Given the description of an element on the screen output the (x, y) to click on. 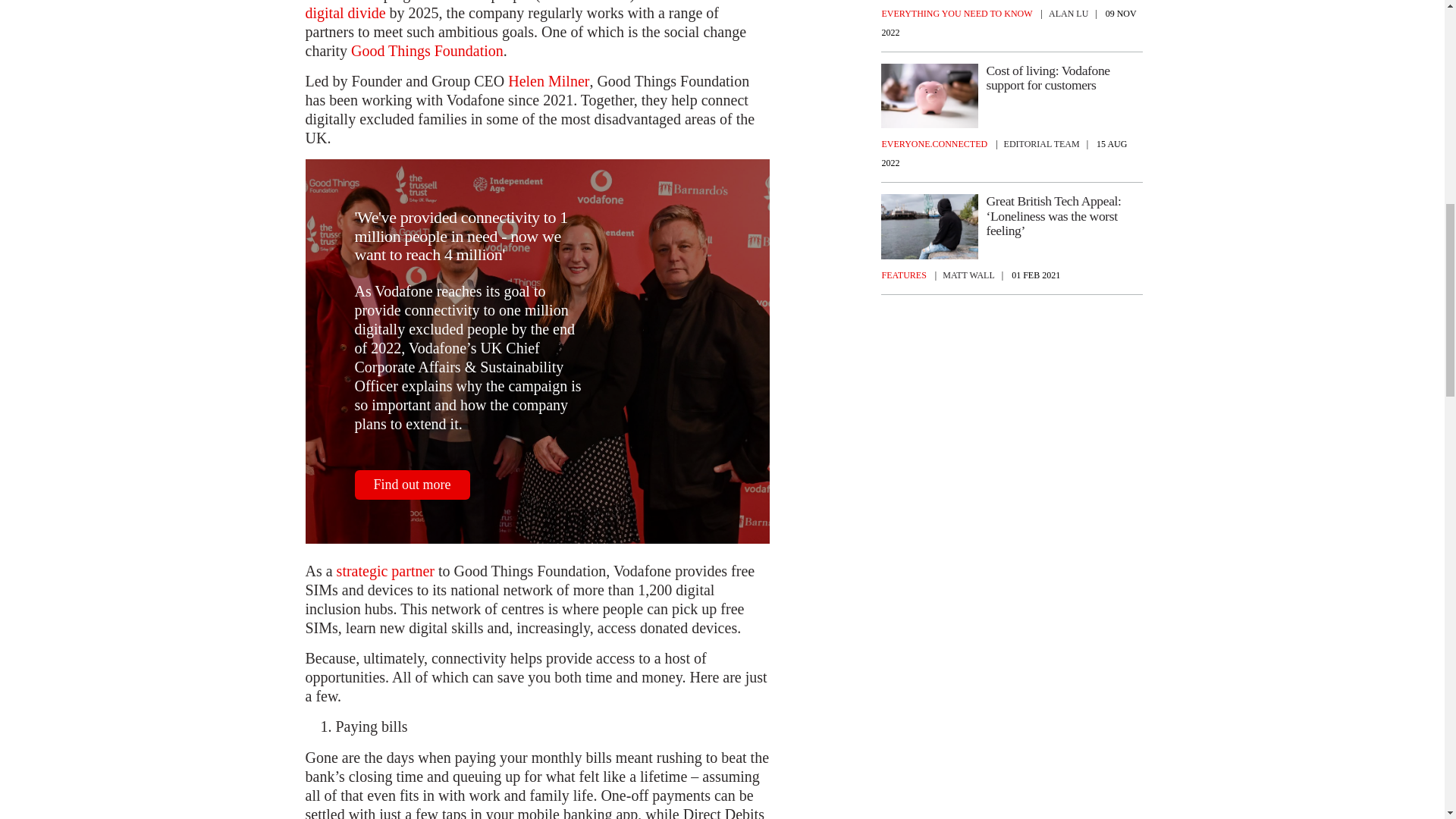
Helen Milner (548, 81)
digital divide (344, 13)
strategic partner (384, 570)
piggybankresizedcropped (929, 95)
Good Things Foundation (426, 50)
Find out more (412, 484)
Lonely teenager sitting by river (929, 226)
